Given the description of an element on the screen output the (x, y) to click on. 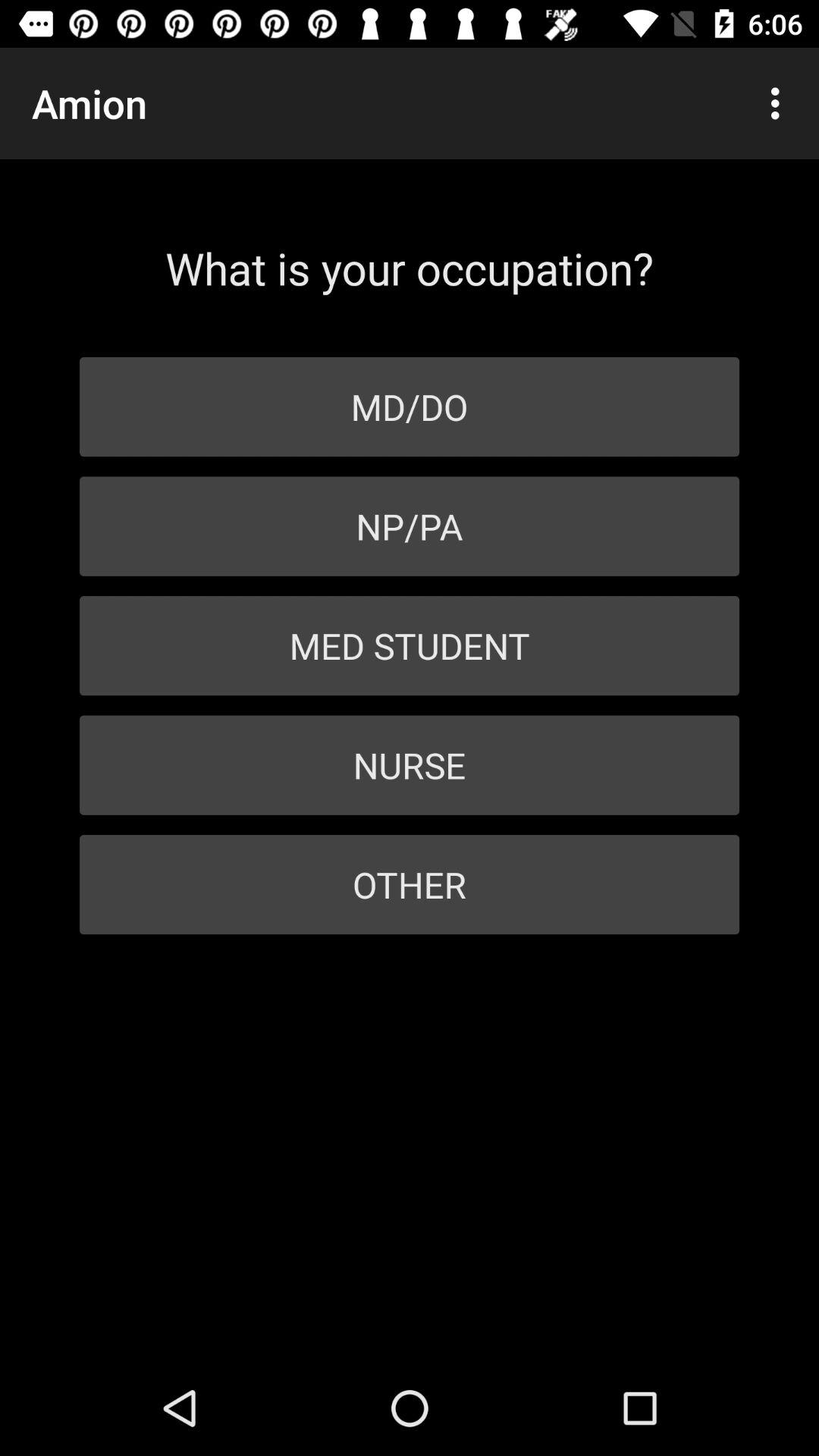
open the item below what is your icon (409, 406)
